Given the description of an element on the screen output the (x, y) to click on. 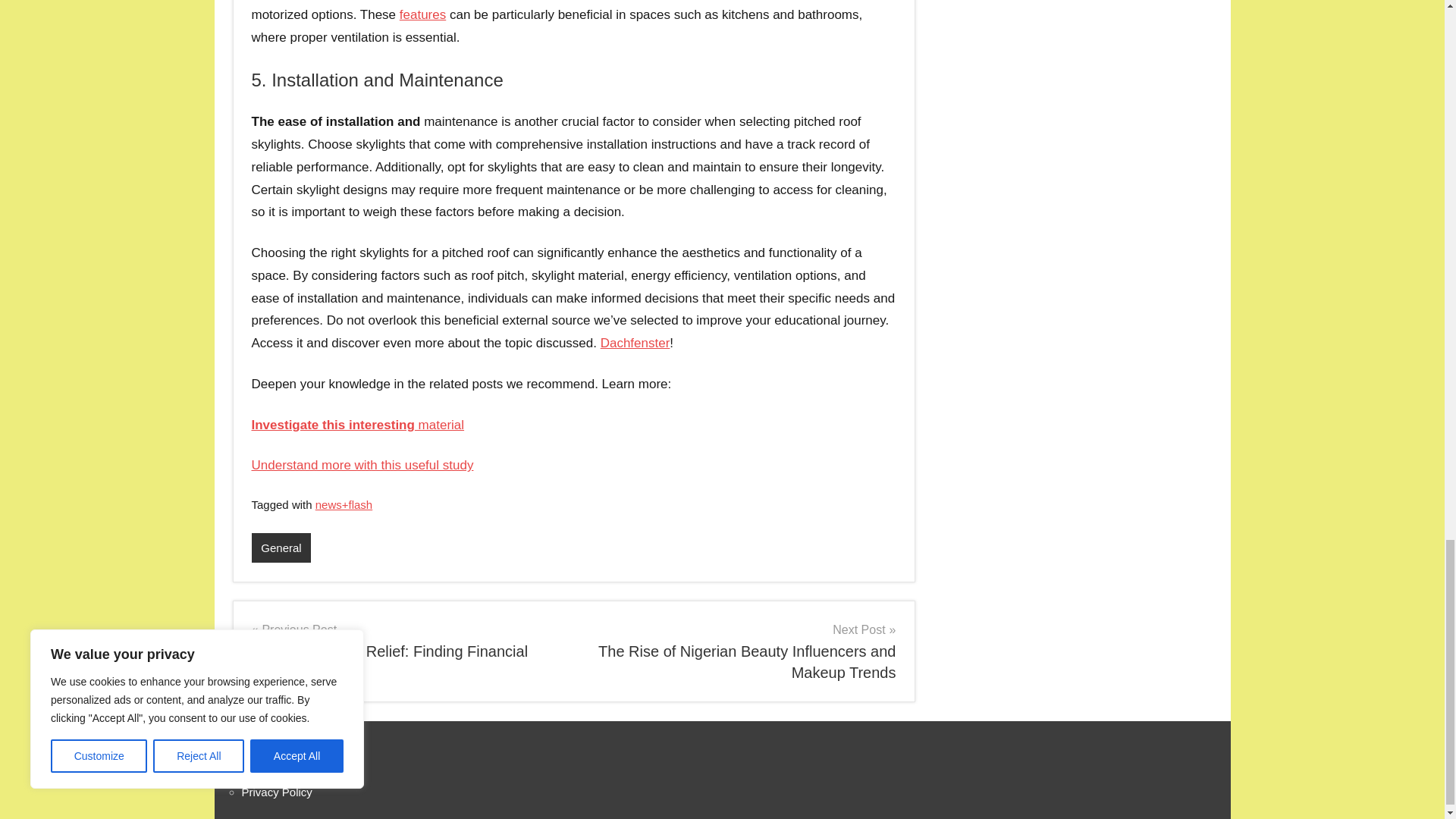
General (281, 547)
Investigate this interesting material (357, 423)
features (421, 14)
Dachfenster (634, 342)
Understand more with this useful study (362, 464)
